Given the description of an element on the screen output the (x, y) to click on. 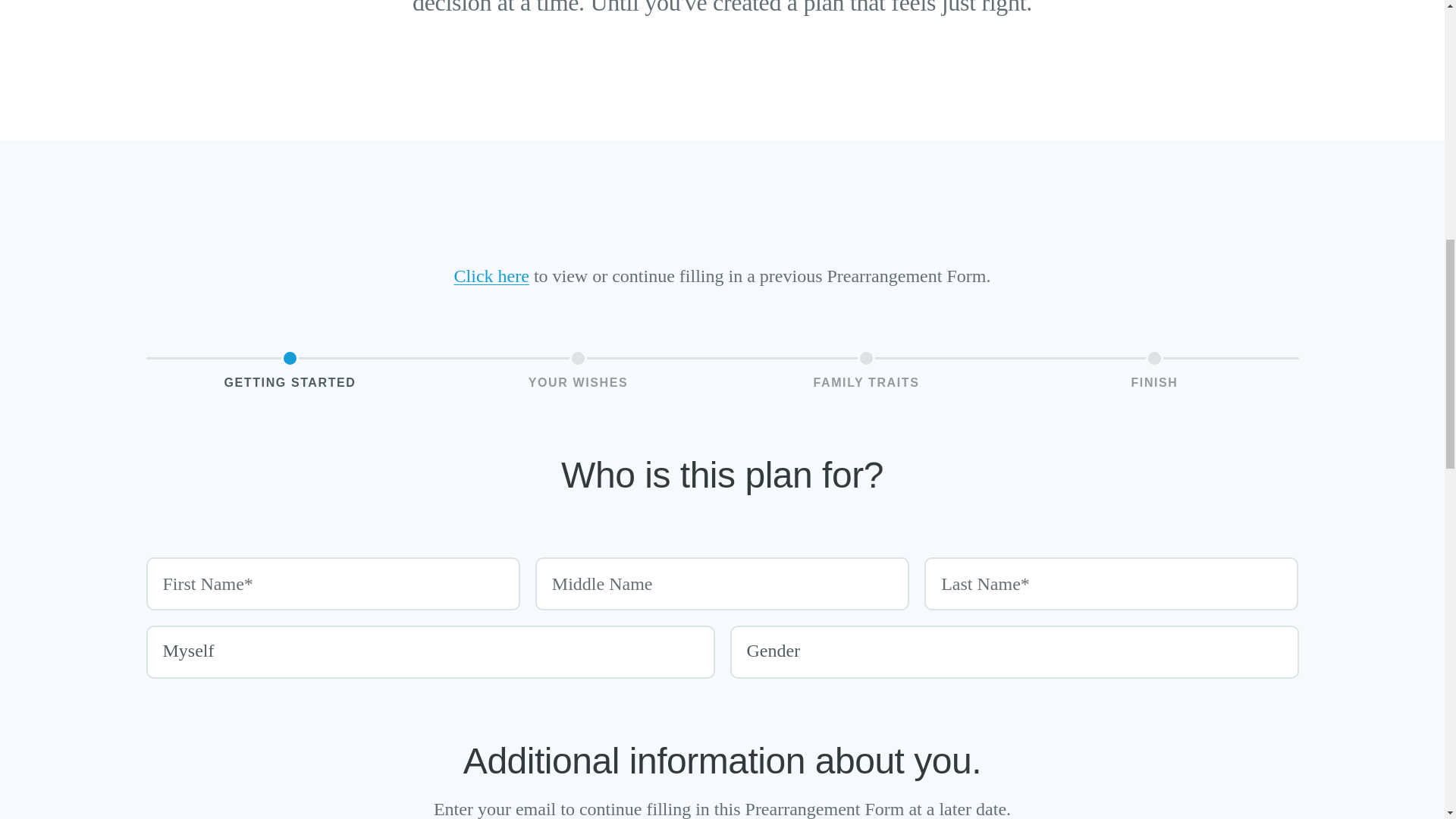
Click here (491, 275)
FINISH (1154, 371)
YOUR WISHES (577, 371)
GETTING STARTED (289, 371)
FAMILY TRAITS (866, 371)
